Given the description of an element on the screen output the (x, y) to click on. 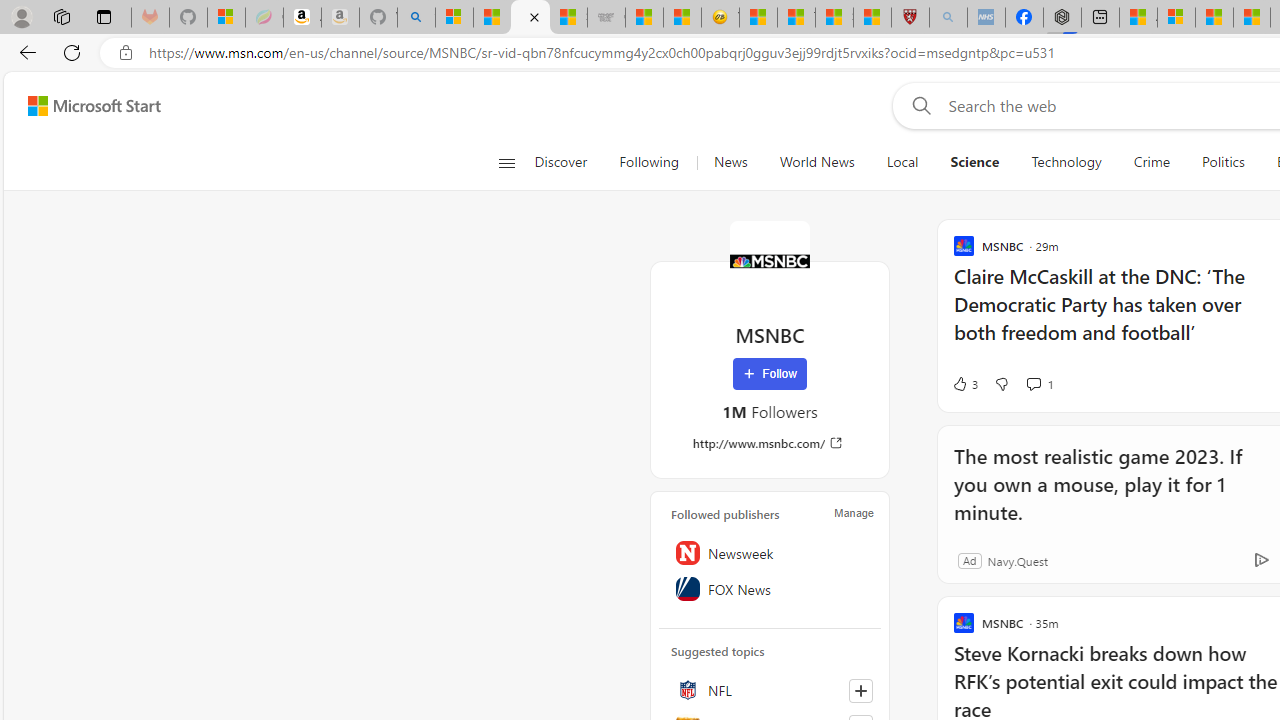
Following (649, 162)
Navy.Quest (1017, 560)
Follow (769, 373)
Science (974, 162)
Microsoft account | Privacy (1176, 17)
News (729, 162)
Crime (1151, 162)
Politics (1223, 162)
Manage (854, 512)
Ad (969, 560)
Open navigation menu (506, 162)
Skip to content (86, 105)
12 Popular Science Lies that Must be Corrected (871, 17)
